Given the description of an element on the screen output the (x, y) to click on. 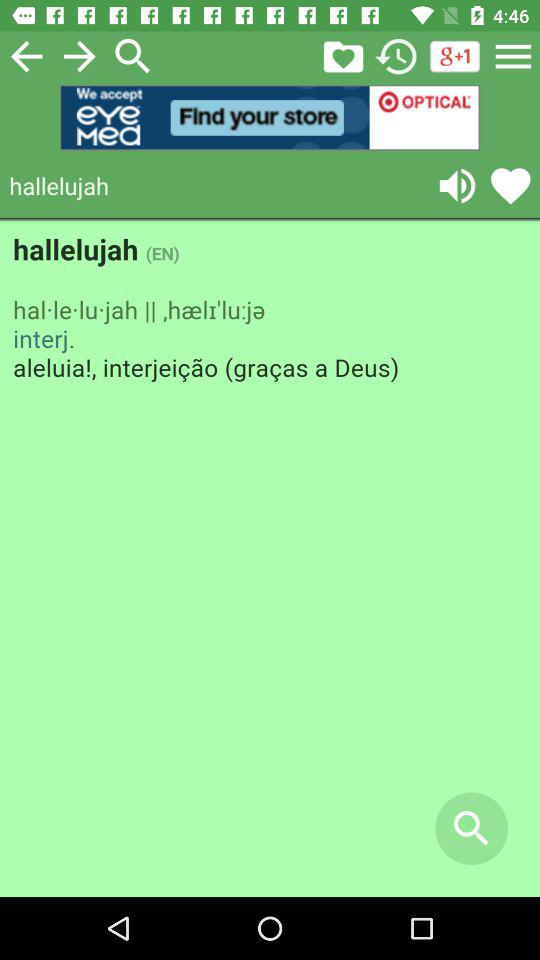
open menu (513, 56)
